Given the description of an element on the screen output the (x, y) to click on. 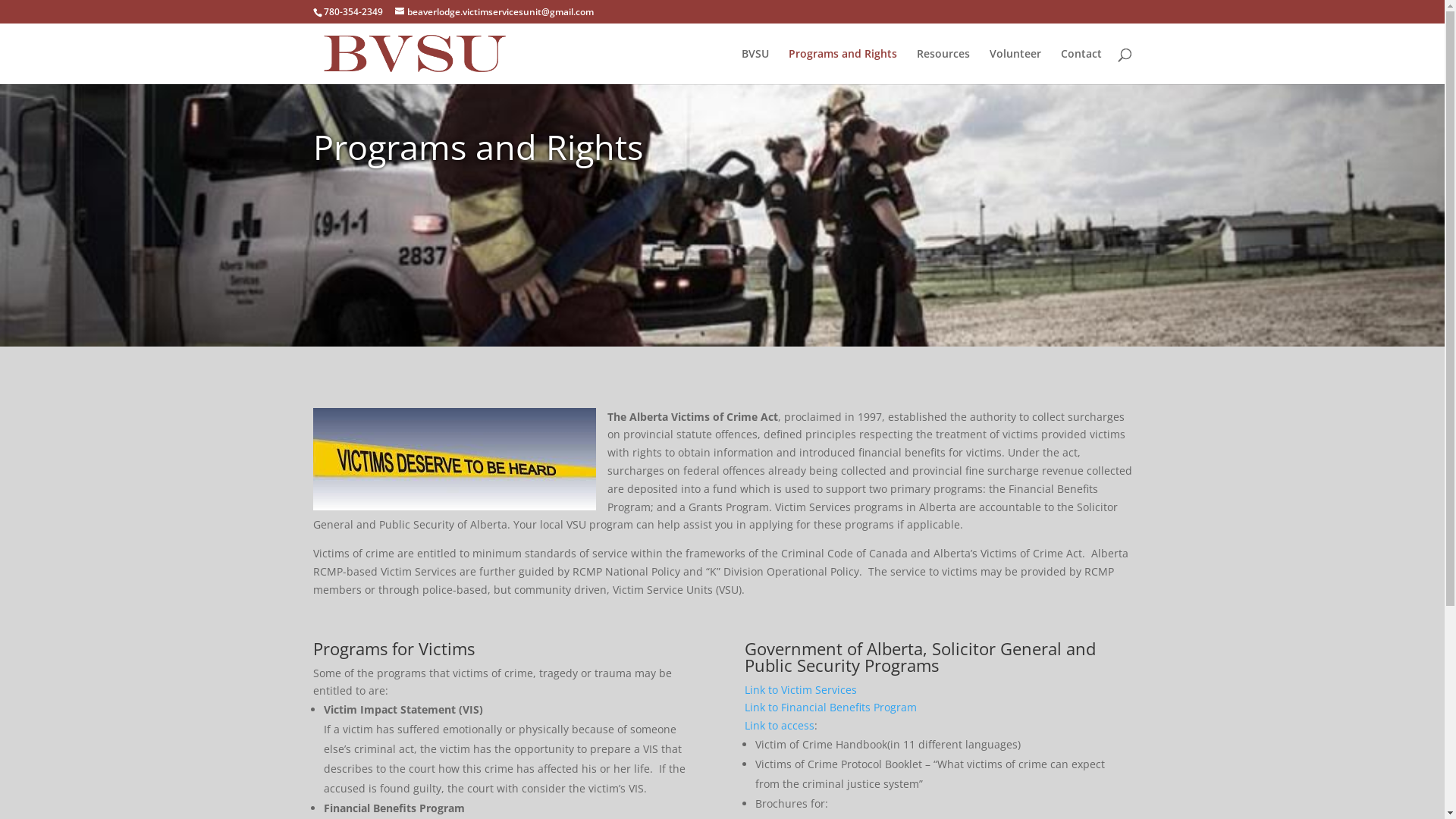
Link to Financial Benefits Program Element type: text (830, 706)
BVSU Element type: text (754, 66)
Contact Element type: text (1080, 66)
Volunteer Element type: text (1014, 66)
beaverlodge.victimservicesunit@gmail.com Element type: text (493, 11)
Link to Victim Services Element type: text (800, 689)
Link to access Element type: text (779, 725)
Programs and Rights Element type: text (842, 66)
Resources Element type: text (942, 66)
